Given the description of an element on the screen output the (x, y) to click on. 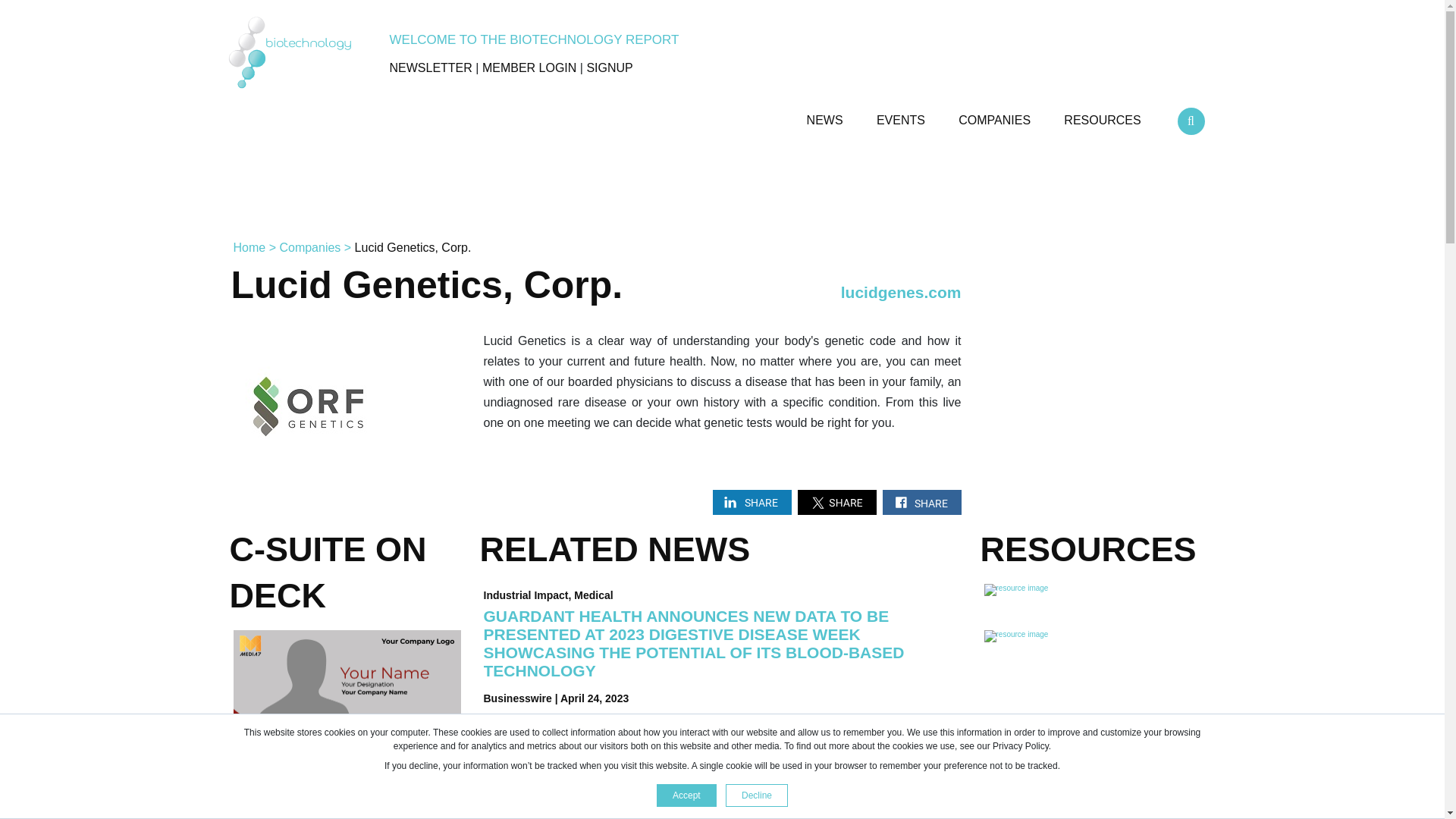
NEWSLETTER (430, 67)
EVENTS (901, 113)
Advertisement (721, 191)
MEMBER LOGIN (528, 67)
NEWS (825, 113)
Advertisement (1094, 360)
Advertisement (1094, 747)
COMPANIES (996, 113)
SIGNUP (608, 67)
RESOURCES (1104, 113)
